Given the description of an element on the screen output the (x, y) to click on. 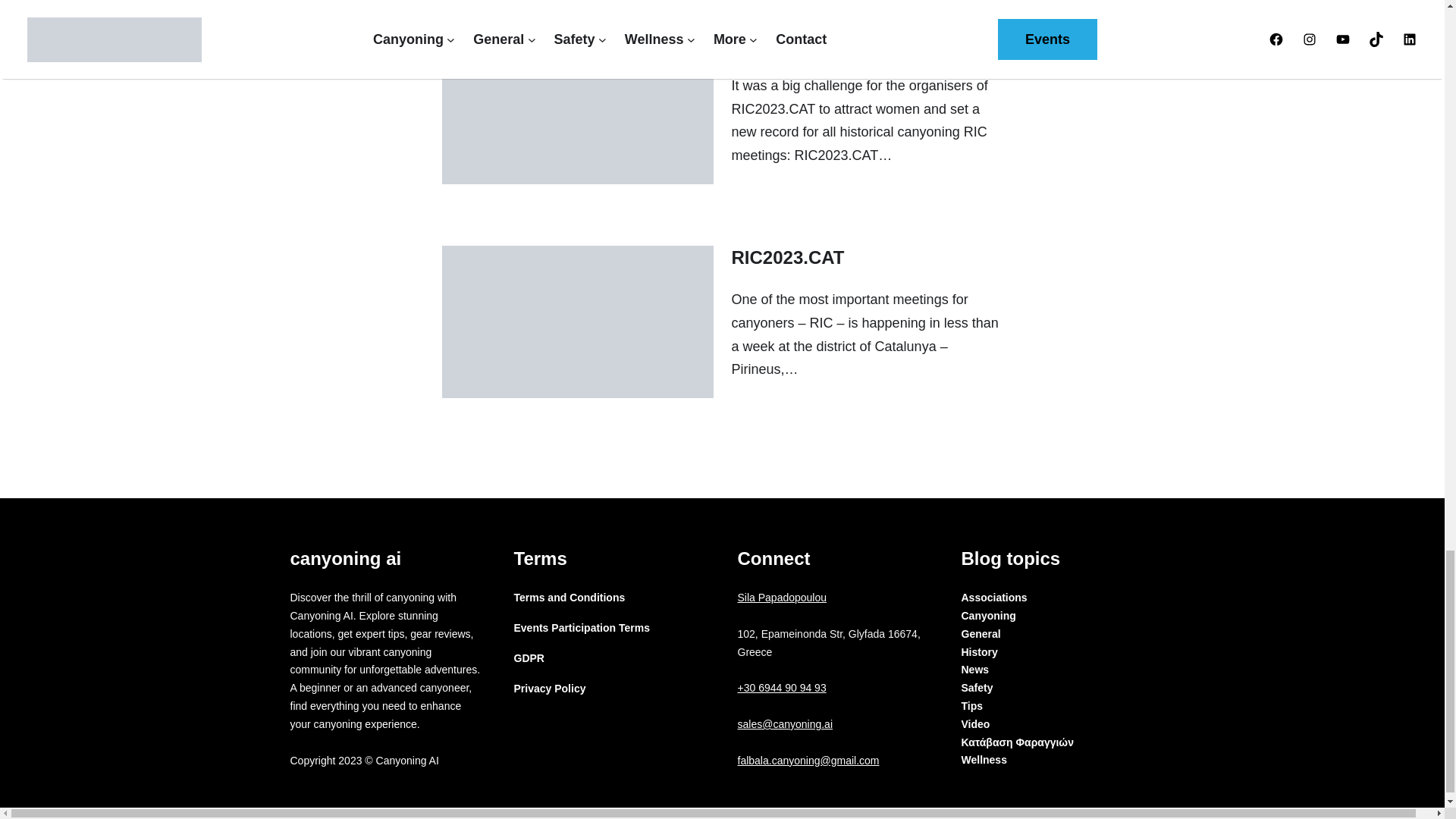
RIC2023.CAT Women (822, 43)
Terms and Conditions (569, 597)
canyoning ai (345, 557)
RIC2023.CAT (787, 257)
Events Participation Terms (581, 628)
Privacy Policy (549, 689)
GDPR (528, 659)
Sila Papadopoulou (781, 597)
